Given the description of an element on the screen output the (x, y) to click on. 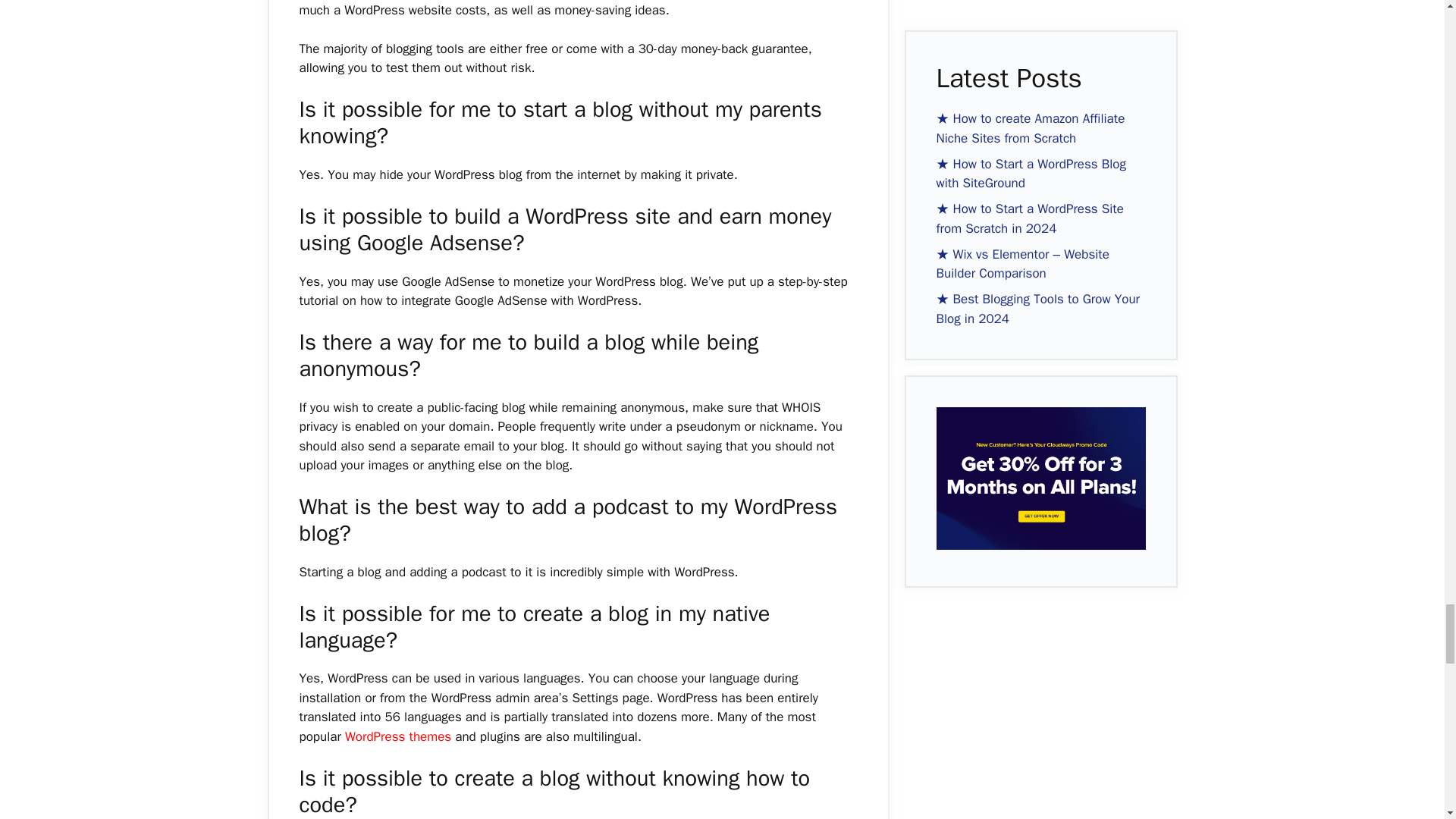
WordPress themes (398, 736)
